Given the description of an element on the screen output the (x, y) to click on. 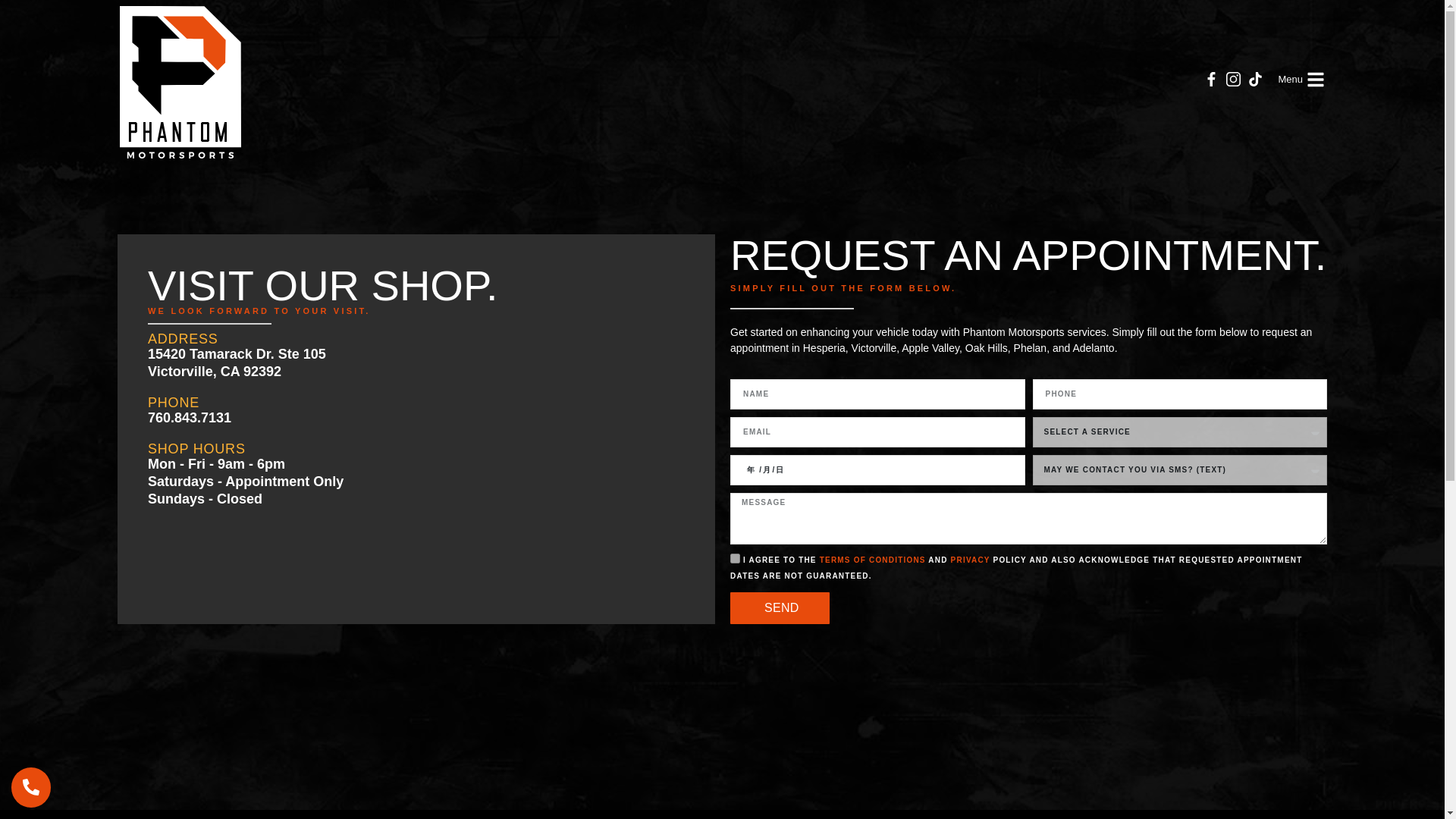
760.843.7131 (189, 417)
View Our Navigation Menu (1290, 79)
on (237, 362)
Visit Our Instagram (734, 558)
PRIVACY (1232, 79)
TERMS OF CONDITIONS (970, 560)
Visit Our TikTok (872, 560)
View Our Navigation Menu (1254, 79)
SEND (1315, 79)
Visit Our Facebook Page (779, 608)
Menu (1211, 79)
